Given the description of an element on the screen output the (x, y) to click on. 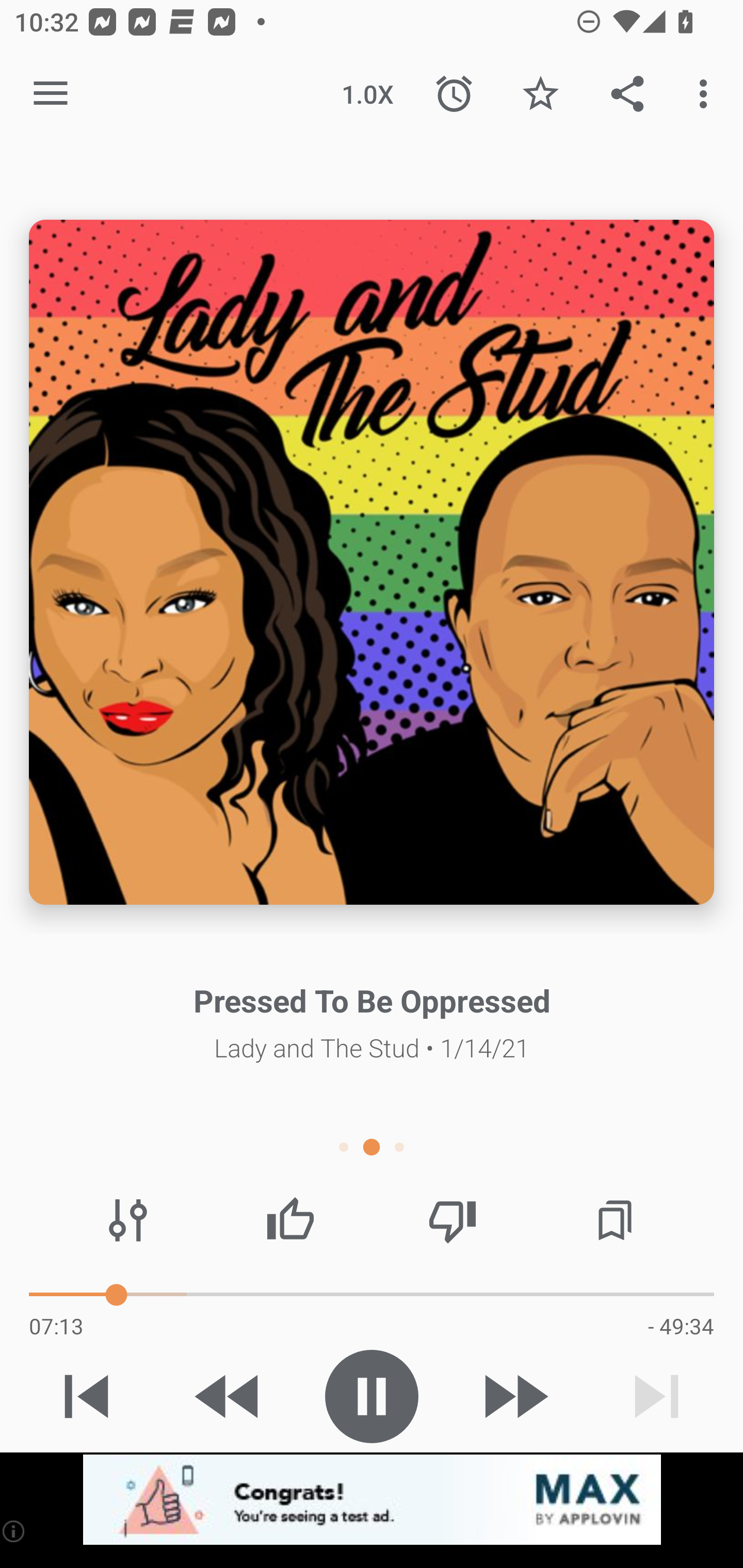
Open navigation sidebar (50, 93)
1.0X (366, 93)
Sleep Timer (453, 93)
Favorite (540, 93)
Share (626, 93)
More options (706, 93)
Episode description (371, 561)
Audio effects (127, 1220)
Thumbs up (290, 1220)
Thumbs down (452, 1220)
Chapters / Bookmarks (614, 1220)
- 49:34 (680, 1325)
Previous track (86, 1395)
Skip 15s backward (228, 1395)
Play / Pause (371, 1395)
Skip 30s forward (513, 1395)
Next track (656, 1395)
app-monetization (371, 1500)
(i) (14, 1531)
